Given the description of an element on the screen output the (x, y) to click on. 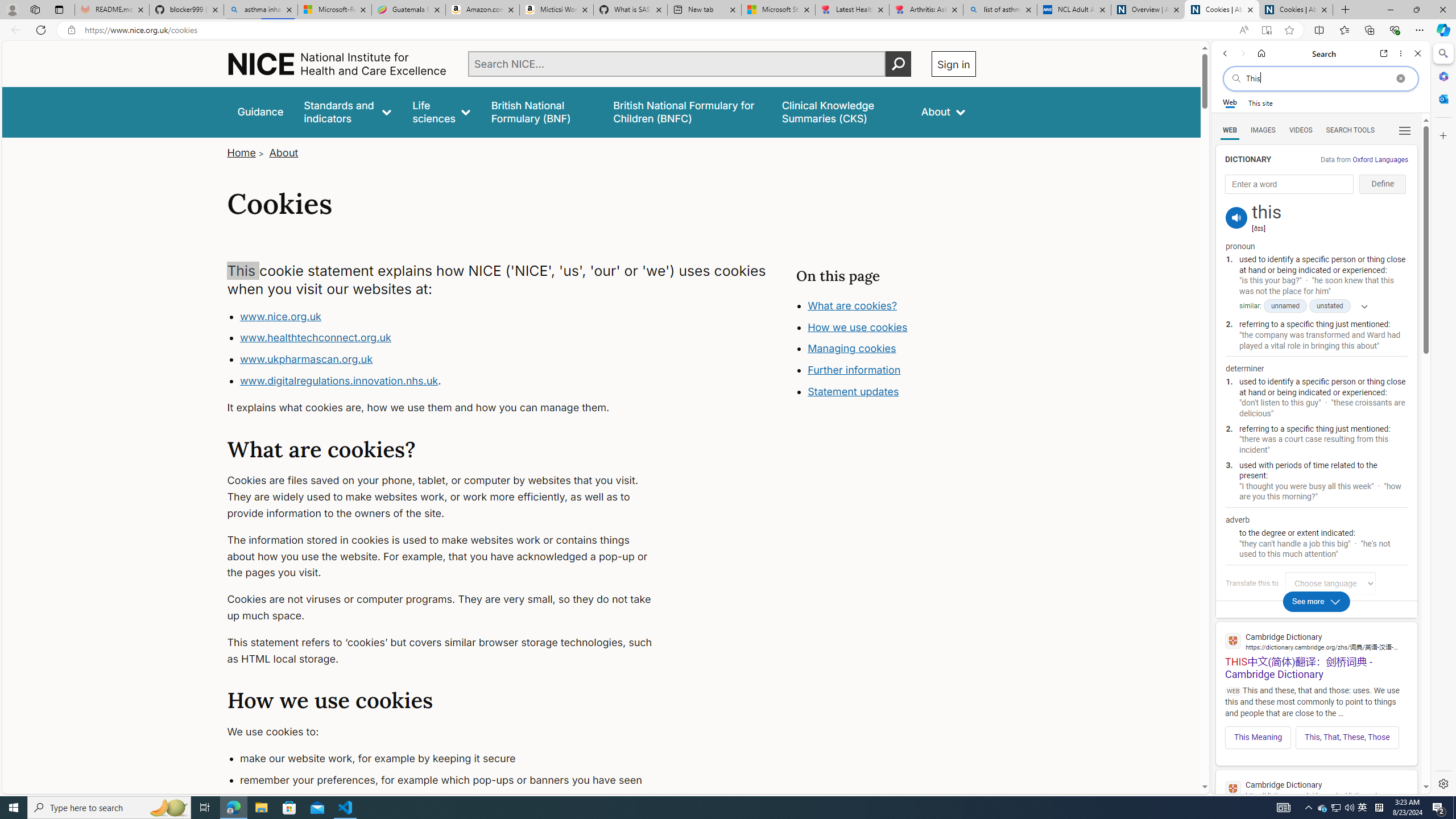
Translate this to Choose language (1329, 582)
Oxford Languages (1379, 159)
Link for logging (1333, 582)
Class: in-page-nav__list (884, 349)
